Given the description of an element on the screen output the (x, y) to click on. 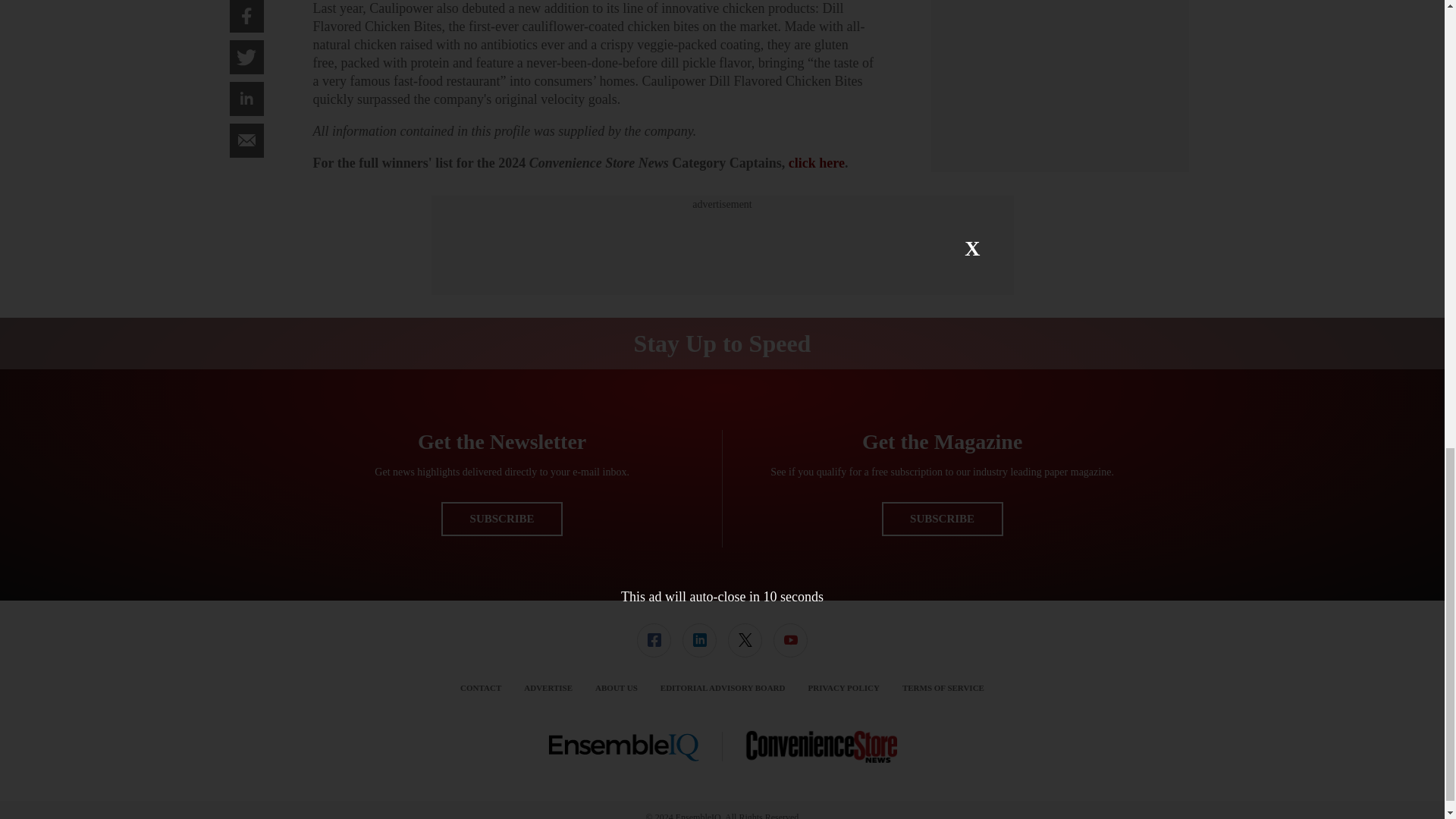
3rd party ad content (721, 245)
